Given the description of an element on the screen output the (x, y) to click on. 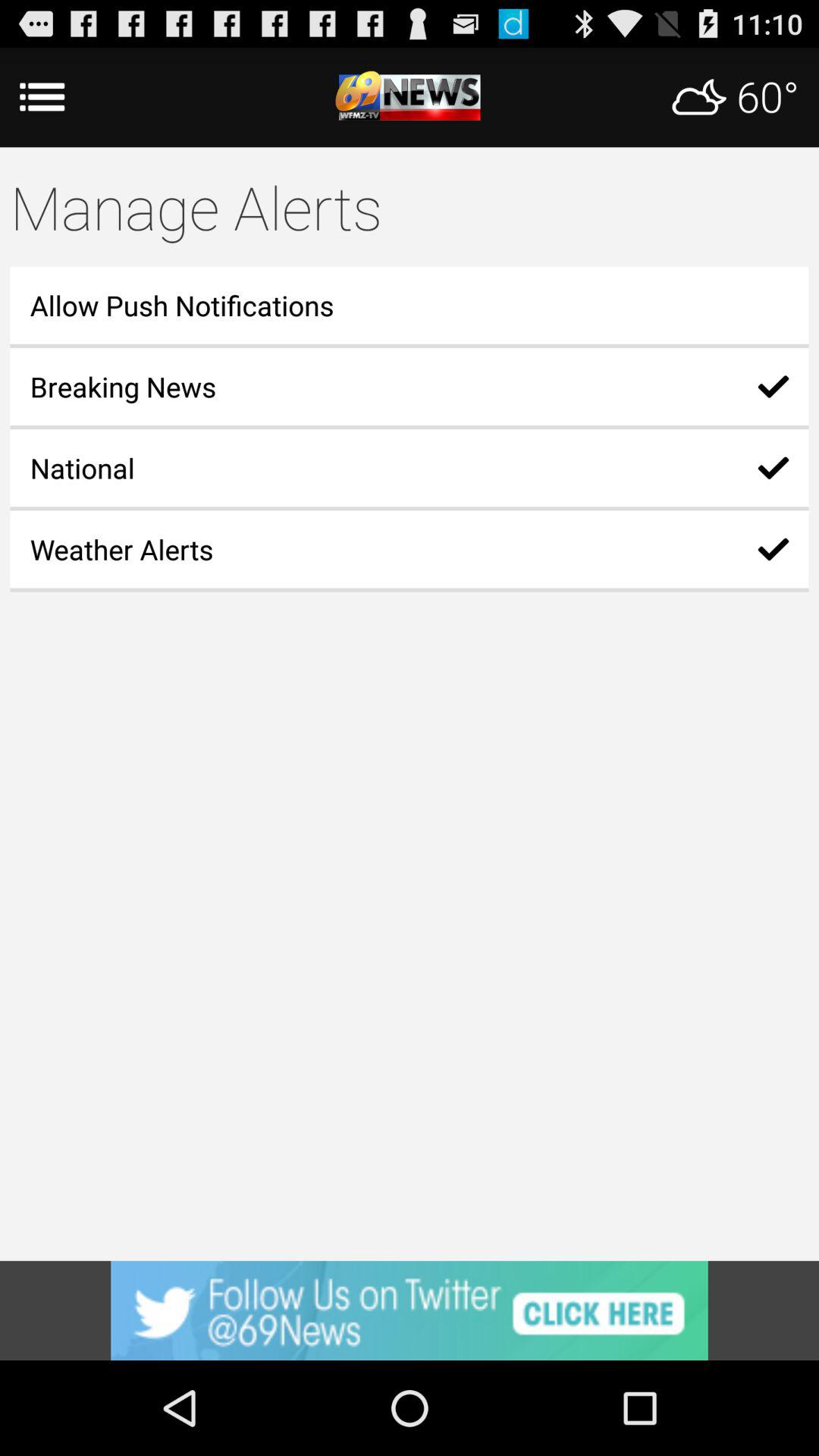
view the advertisement (409, 1310)
